Given the description of an element on the screen output the (x, y) to click on. 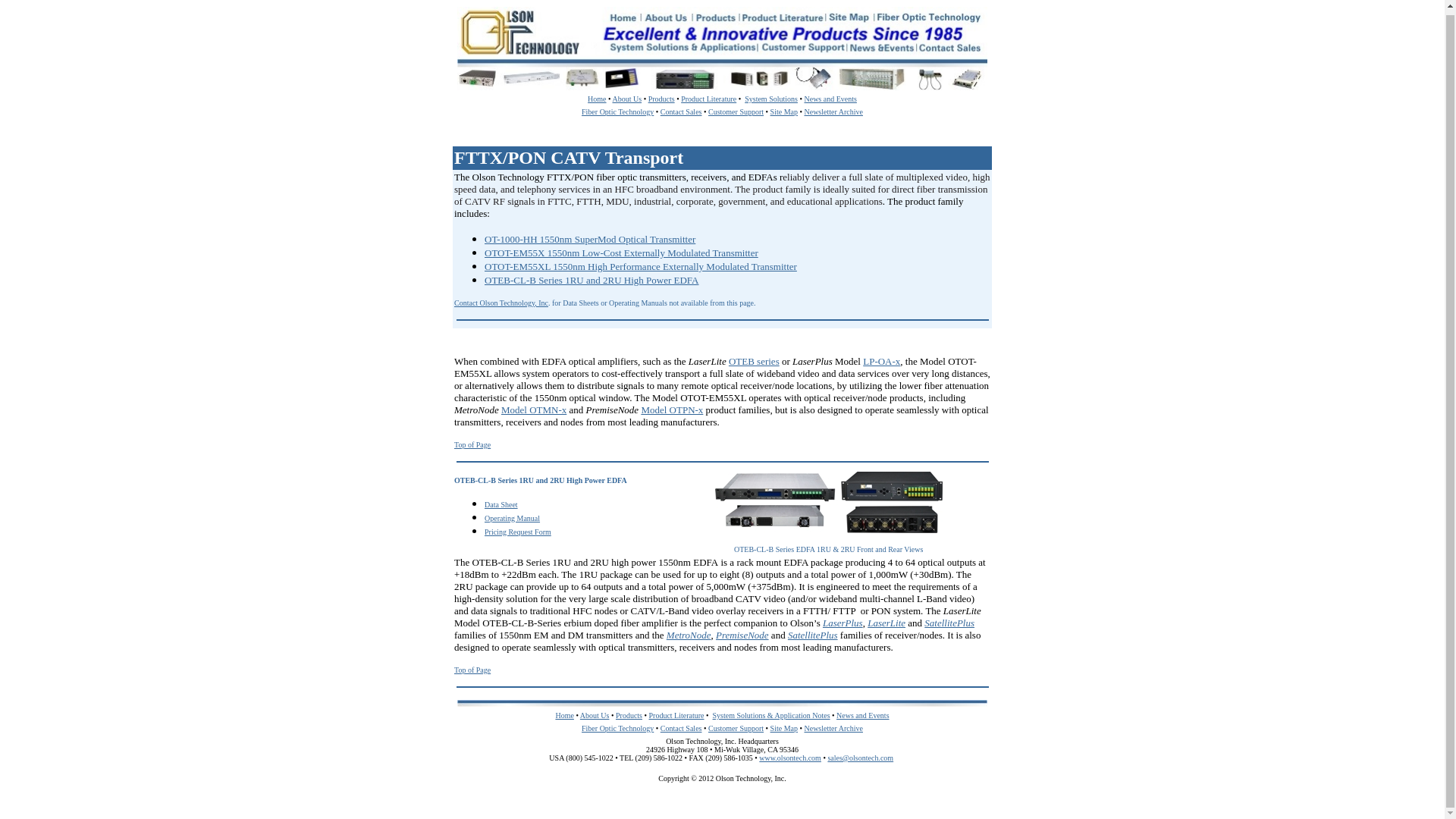
SatellitePlus (812, 634)
Data Sheet (501, 503)
Model OTMN-x (533, 409)
MetroNode (688, 634)
OTEB-CL-B Series (485, 479)
Product Literature (676, 715)
Product Literature (708, 99)
PremiseNode (742, 634)
Contact Olson Technology, Inc (501, 302)
OTEB series (753, 360)
